Given the description of an element on the screen output the (x, y) to click on. 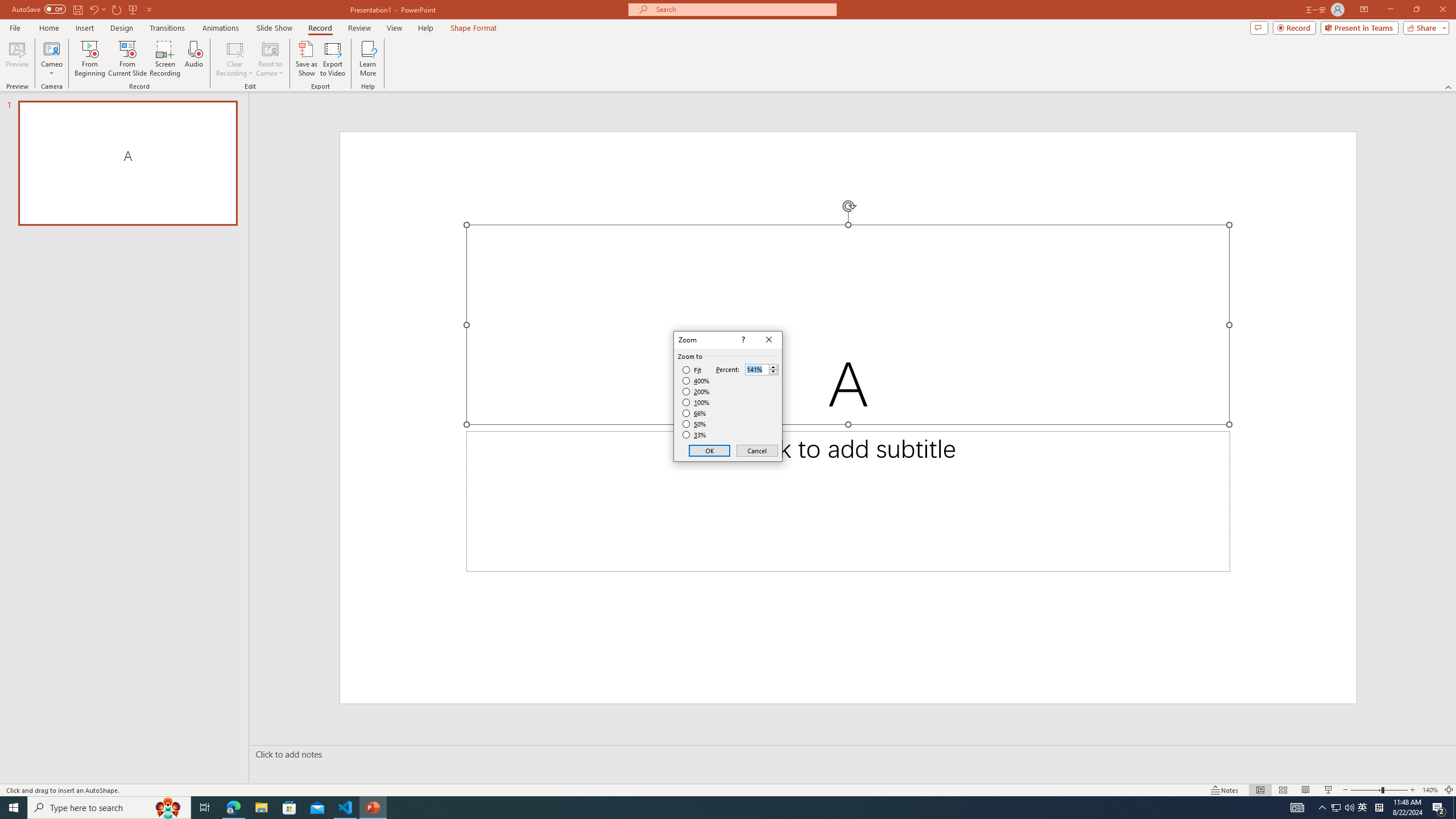
Fit (691, 370)
Zoom 140% (1430, 790)
